Given the description of an element on the screen output the (x, y) to click on. 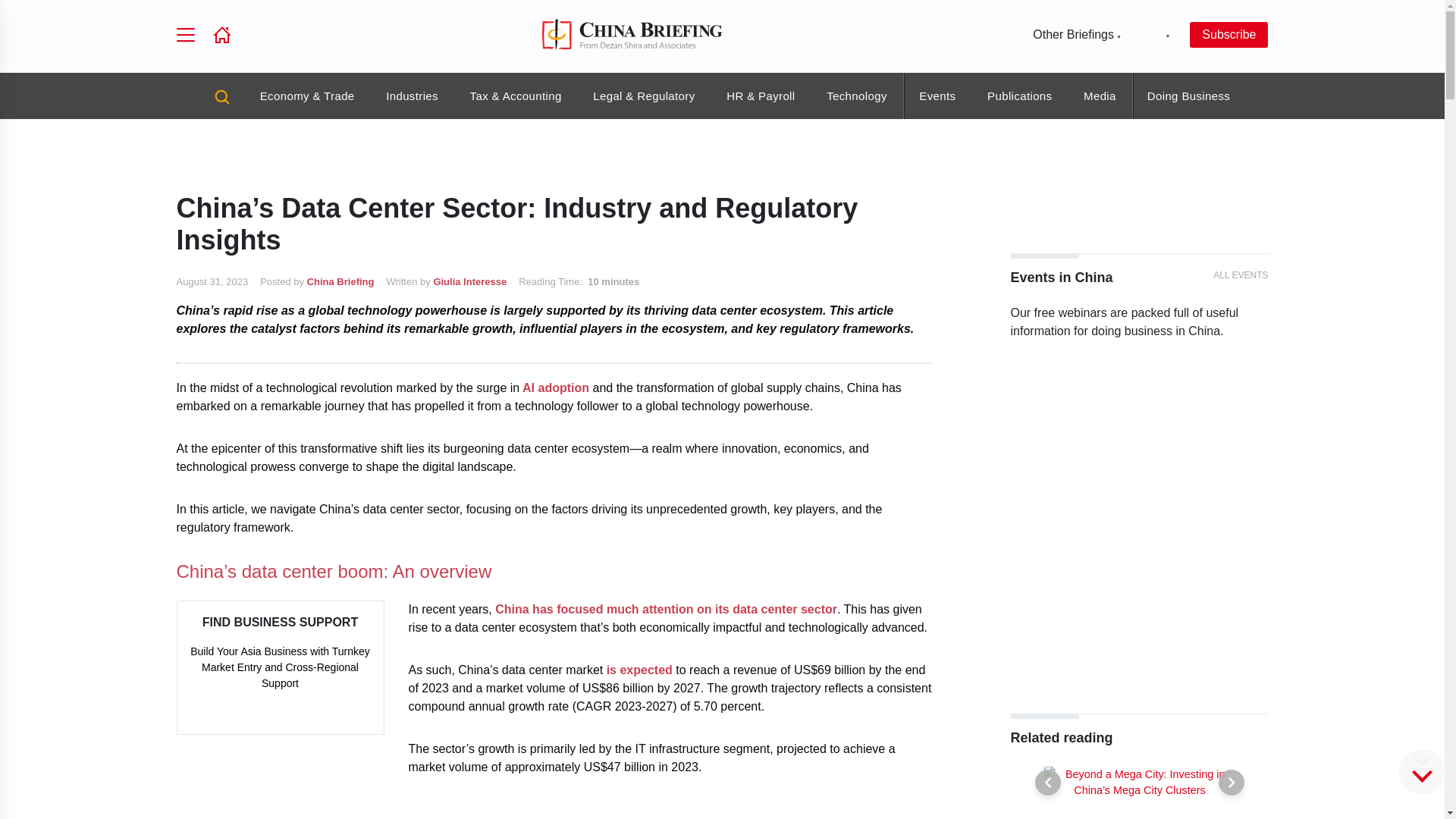
Industries (411, 95)
View all posts by China Briefing (340, 281)
Subscribe (1228, 34)
Technology (856, 95)
